Given the description of an element on the screen output the (x, y) to click on. 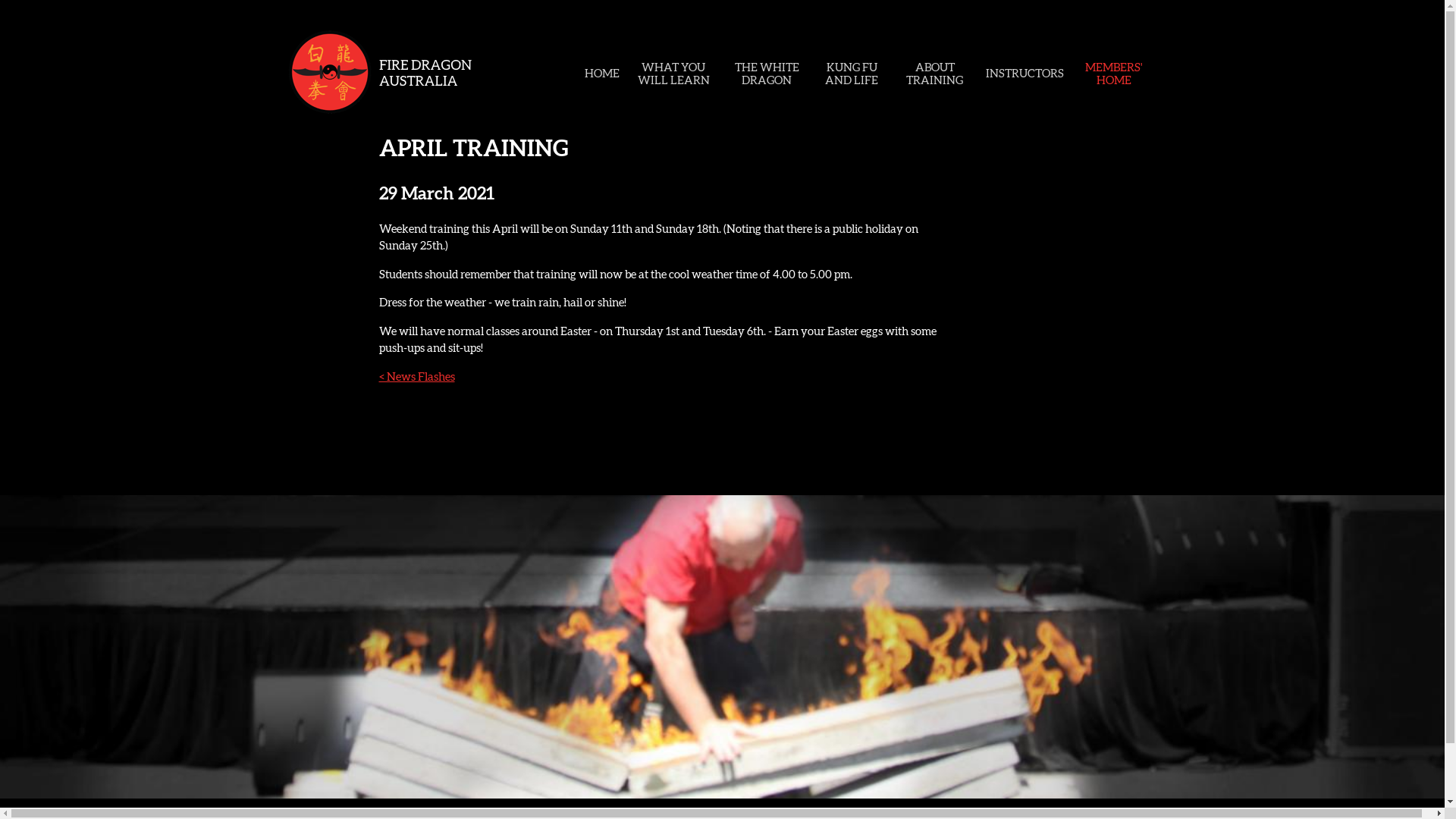
KUNG FU AND LIFE Element type: text (851, 73)
MEMBERS' HOME Element type: text (1113, 73)
< News Flashes Element type: text (417, 376)
THE WHITE DRAGON Element type: text (766, 73)
INSTRUCTORS Element type: text (1024, 72)
ABOUT TRAINING Element type: text (934, 73)
HOME Element type: text (601, 72)
WHAT YOU WILL LEARN Element type: text (673, 73)
